Given the description of an element on the screen output the (x, y) to click on. 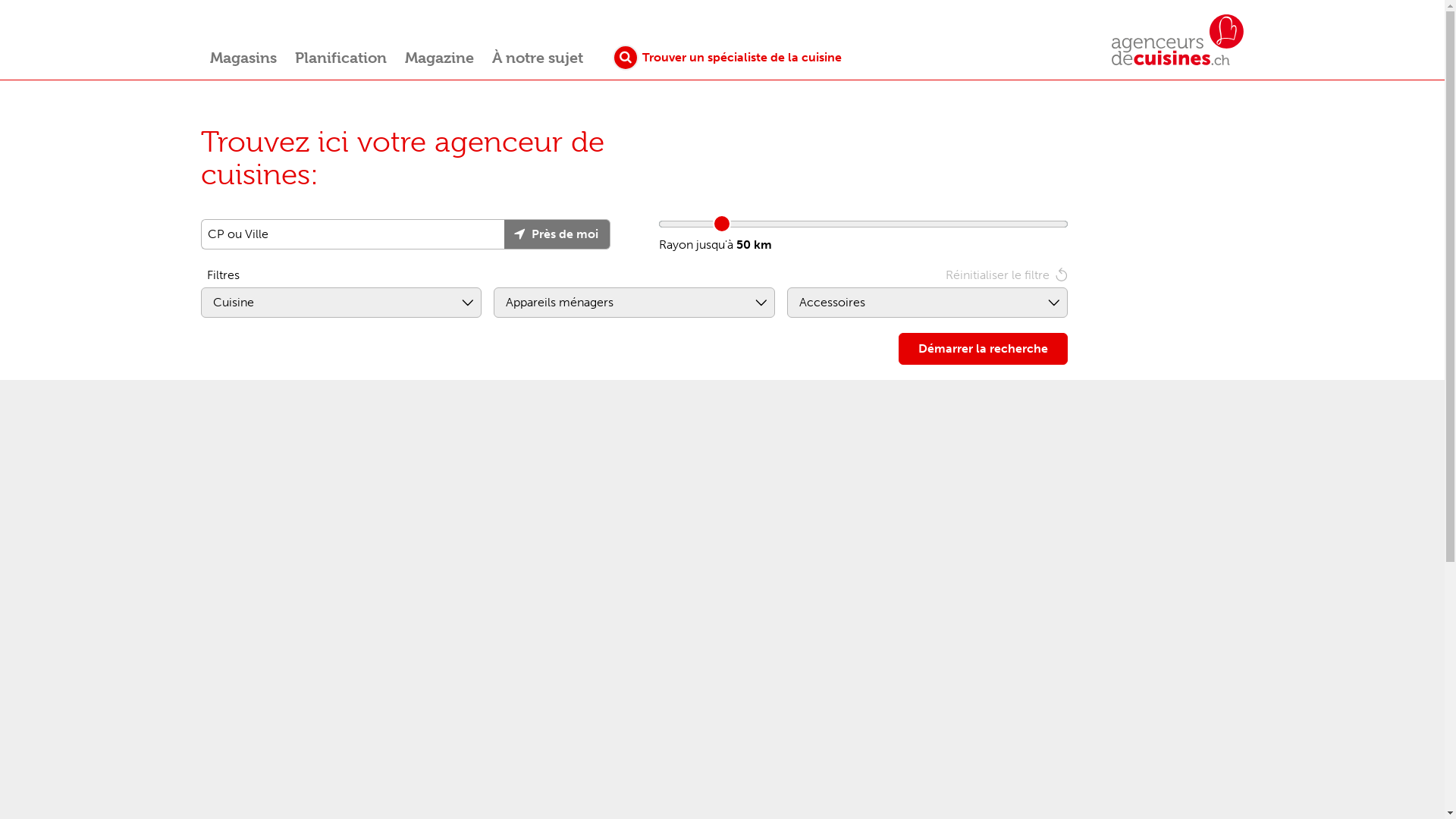
Cuisine Element type: text (340, 302)
Magasins Element type: text (242, 60)
Magazine Element type: text (439, 60)
Planification Element type: text (340, 60)
Accessoires Element type: text (927, 302)
